Given the description of an element on the screen output the (x, y) to click on. 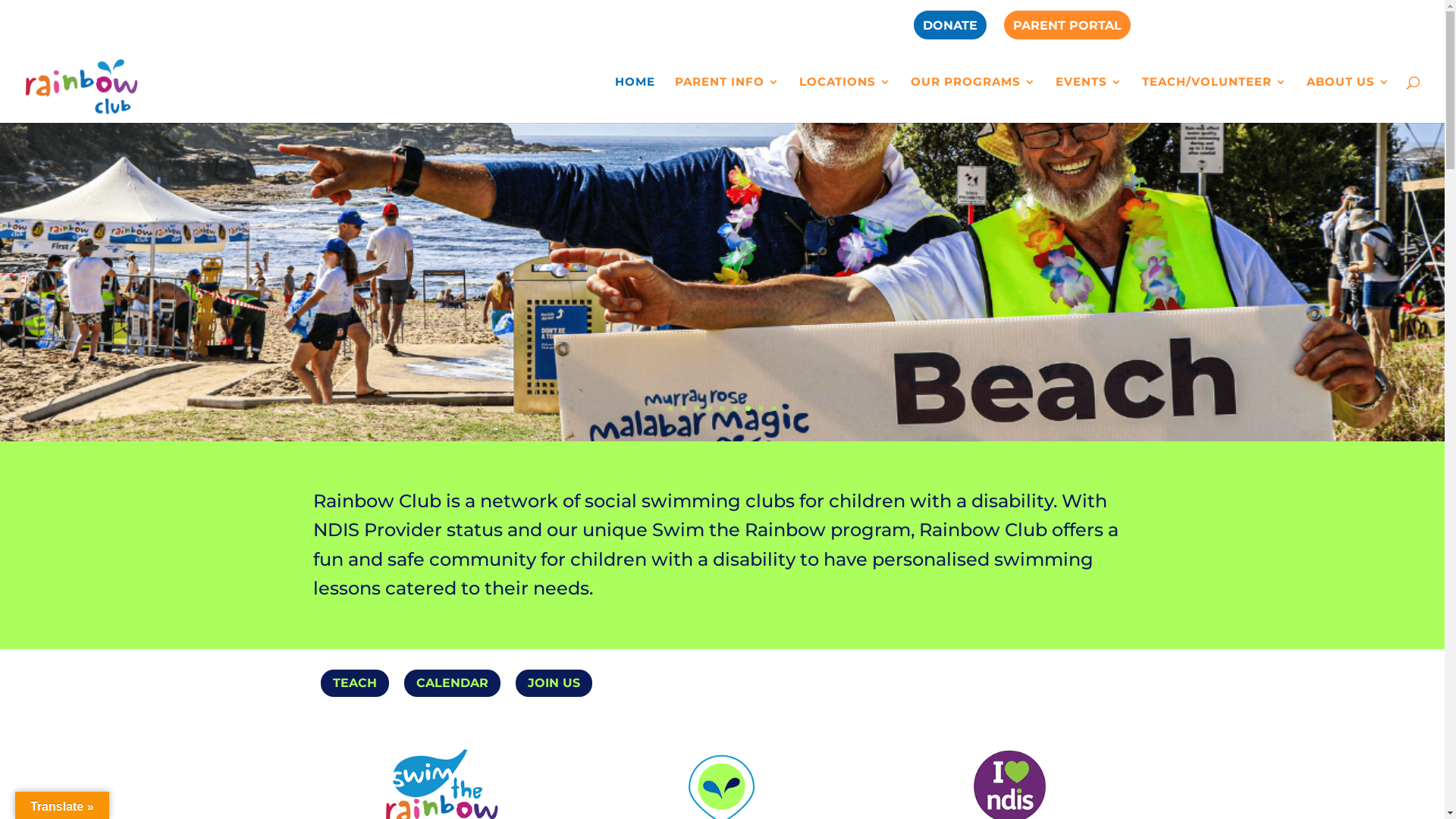
LOCATIONS Element type: text (845, 99)
4 Element type: text (709, 408)
TEACH/VOLUNTEER Element type: text (1214, 99)
9 Element type: text (773, 408)
8 Element type: text (760, 408)
1 Element type: text (670, 408)
ABOUT US Element type: text (1348, 99)
6 Element type: text (734, 408)
5 Element type: text (721, 408)
For young adults Element type: text (405, 252)
JOIN US Element type: text (553, 683)
PARENT INFO Element type: text (726, 99)
DONATE Element type: text (949, 29)
7 Element type: text (747, 408)
HOME Element type: text (635, 99)
OUR PROGRAMS Element type: text (972, 99)
CALENDAR Element type: text (451, 683)
PARENT PORTAL Element type: text (1067, 29)
3 Element type: text (696, 408)
ACTIVE MOVES Element type: text (319, 315)
2 Element type: text (683, 408)
EVENTS Element type: text (1088, 99)
TEACH Element type: text (354, 683)
